Given the description of an element on the screen output the (x, y) to click on. 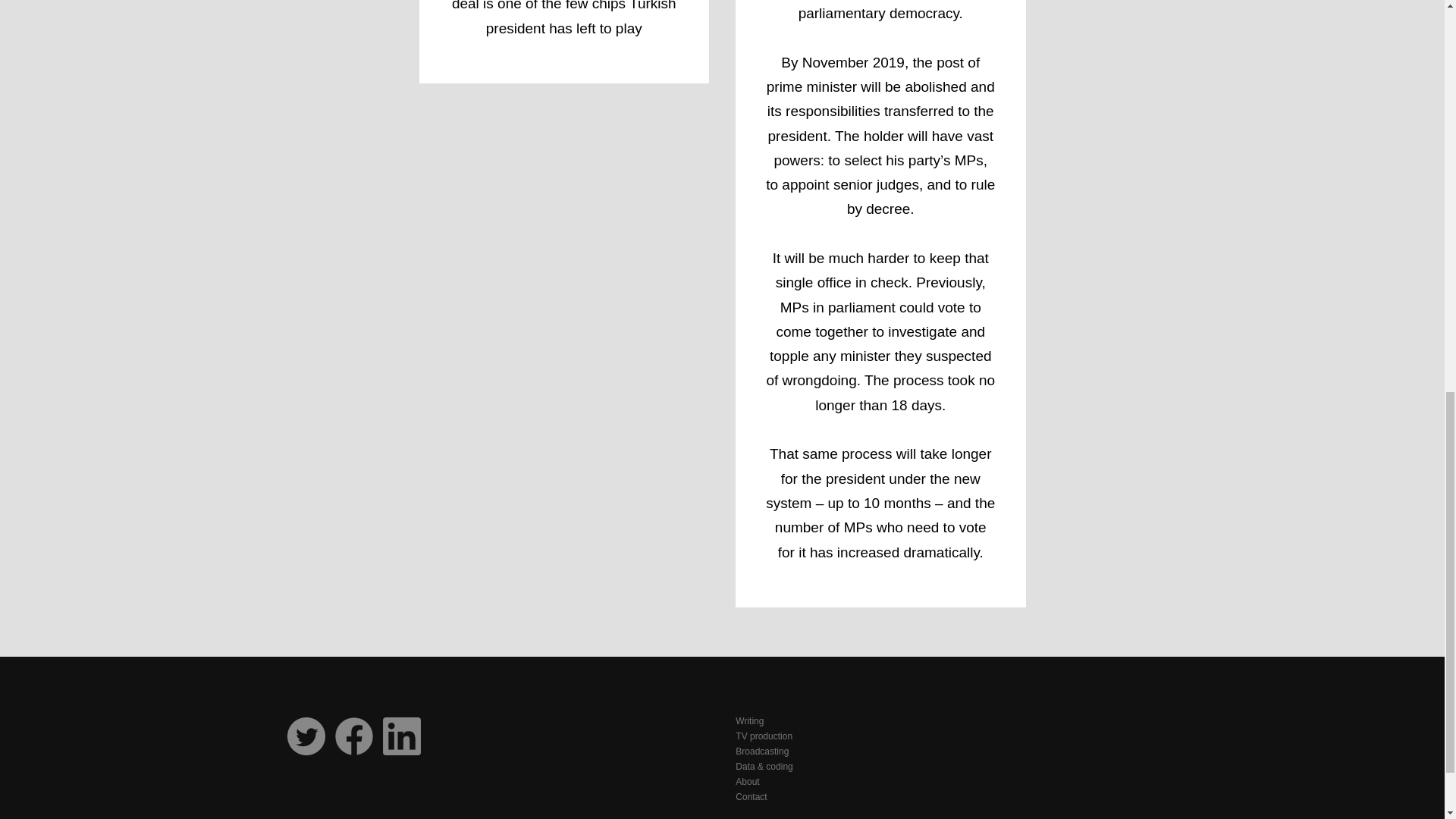
Broadcasting (947, 751)
About (947, 781)
TV production (947, 735)
Contact (947, 796)
Writing (947, 720)
